Given the description of an element on the screen output the (x, y) to click on. 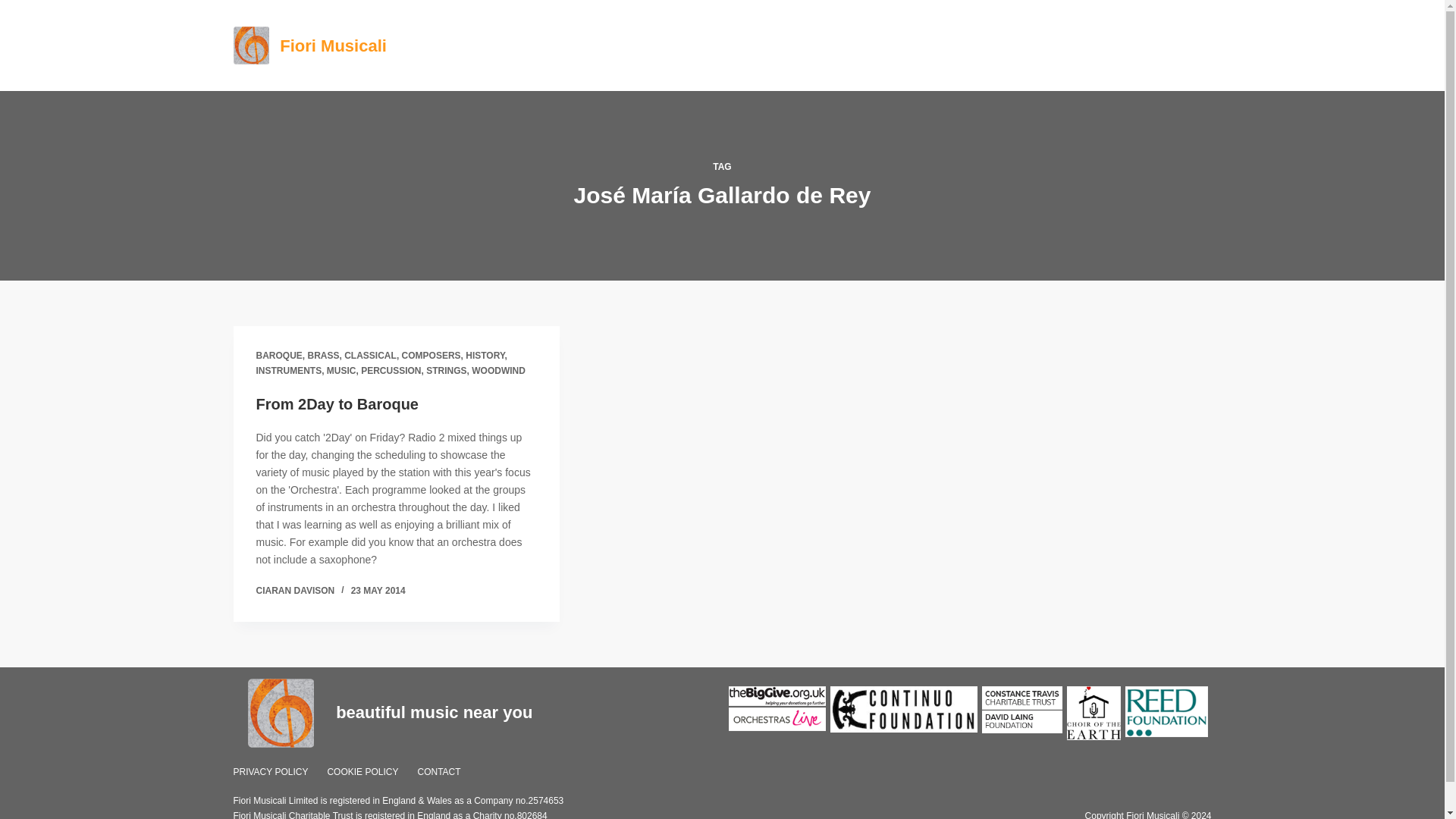
Skip to content (15, 7)
Posts by Ciaran Davison (295, 590)
Fiori Musicali (333, 45)
